Given the description of an element on the screen output the (x, y) to click on. 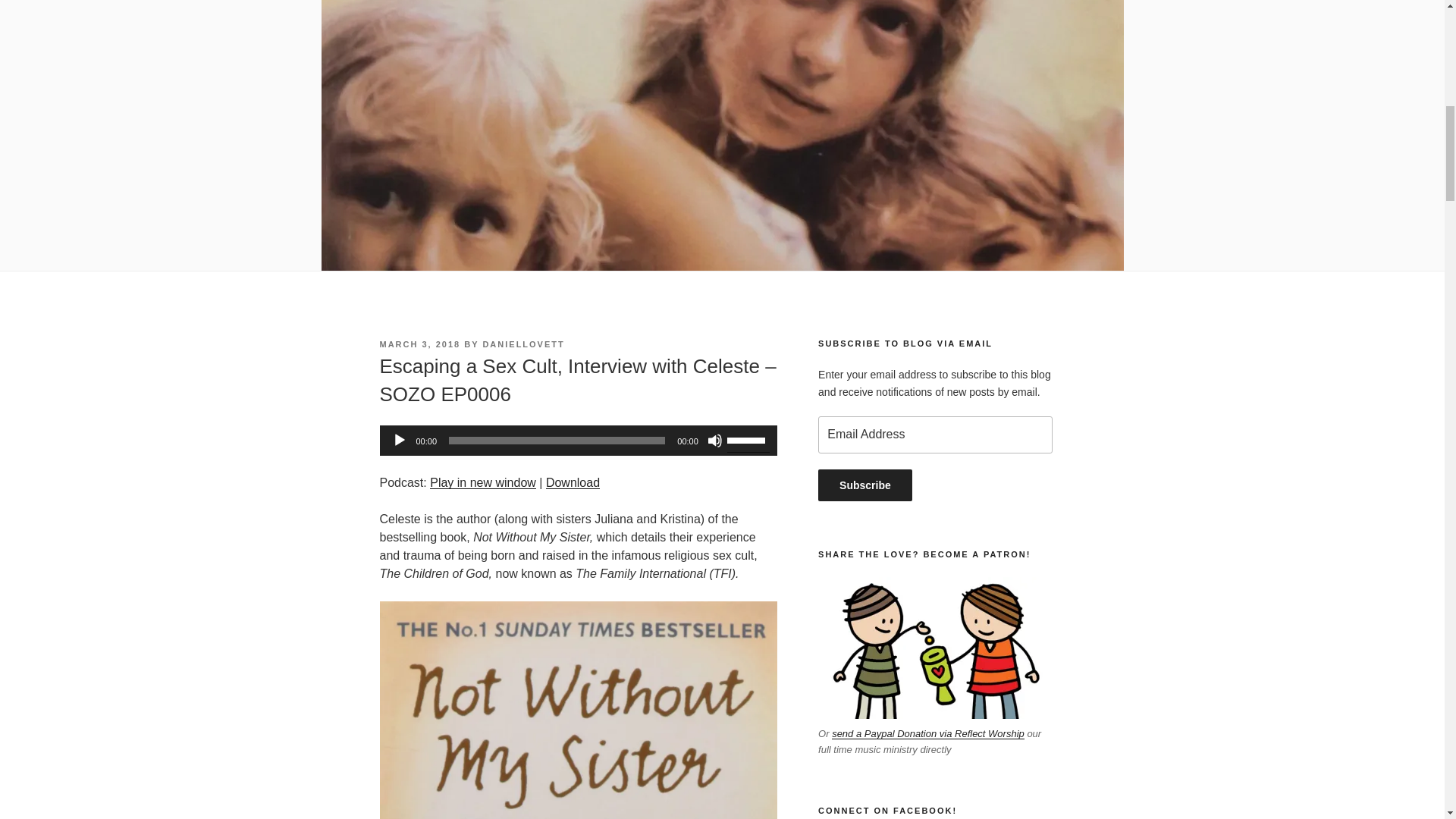
Play in new window (482, 481)
MARCH 3, 2018 (419, 343)
Mute (714, 440)
Subscribe (865, 485)
Play in new window (482, 481)
Download (572, 481)
Download (572, 481)
Play (398, 440)
DANIELLOVETT (522, 343)
